Given the description of an element on the screen output the (x, y) to click on. 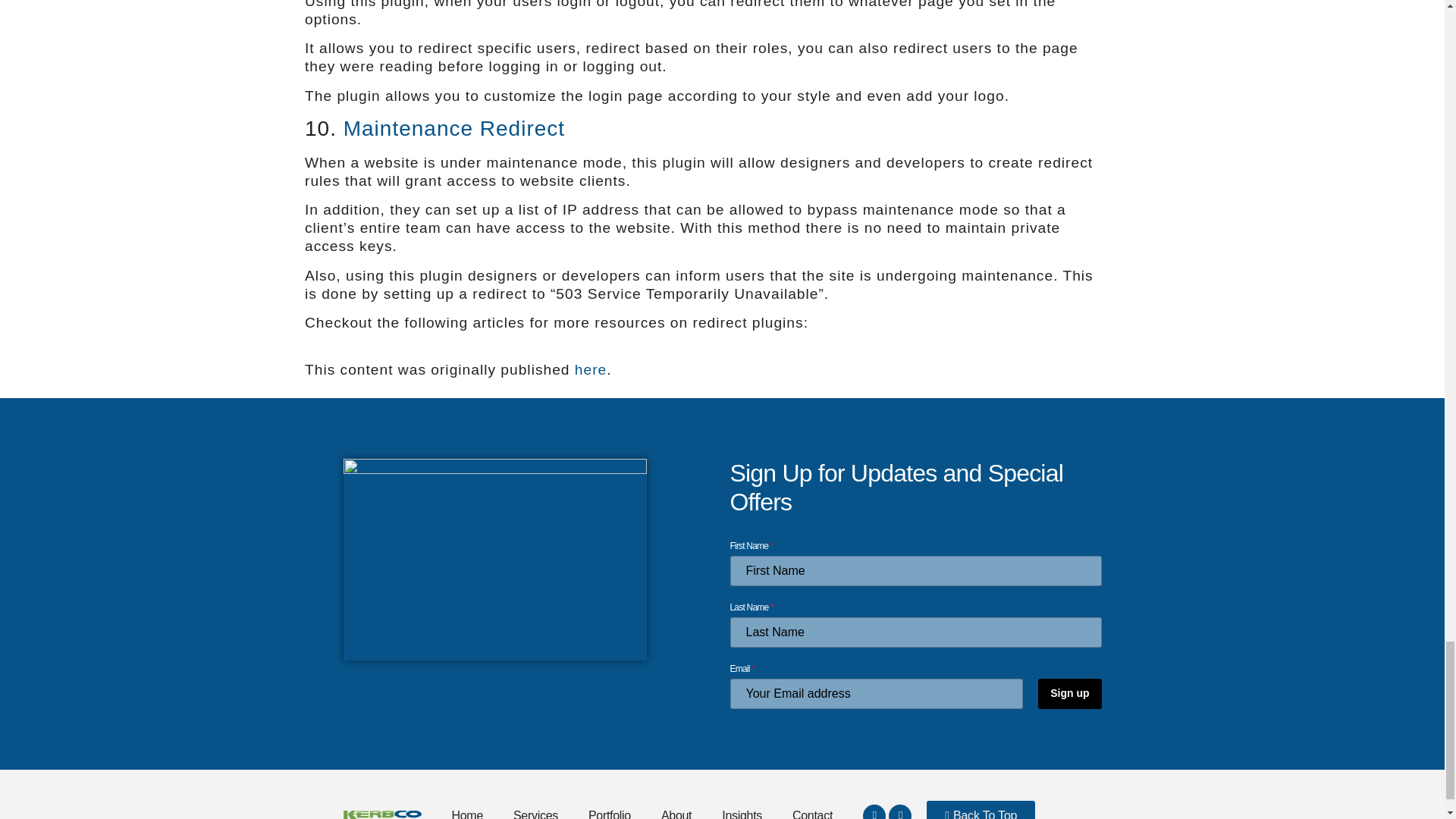
About (676, 801)
Contact (812, 801)
here (591, 369)
Insights (741, 801)
Sign up (1069, 693)
Services (535, 801)
Portfolio (609, 801)
Home (466, 801)
Maintenance Redirect (453, 128)
